Given the description of an element on the screen output the (x, y) to click on. 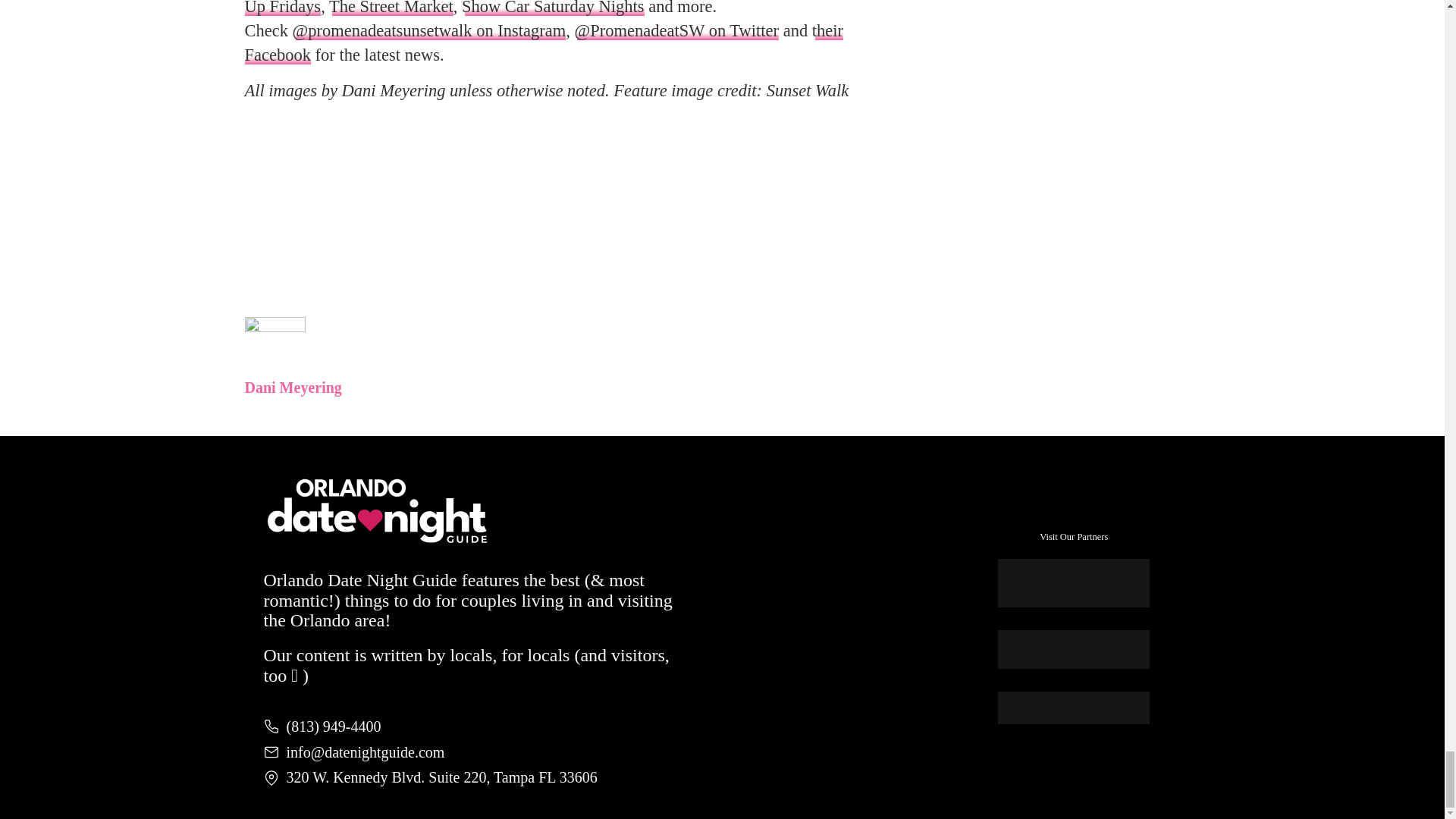
Link to Orlando Date Night Guide's website (1073, 582)
Link to Orlando Parenting's website, orlando-parenting.com (1073, 649)
Posts by Dani Meyering (292, 387)
Link to Tampa Bay Parenting's website,  (1073, 707)
